Given the description of an element on the screen output the (x, y) to click on. 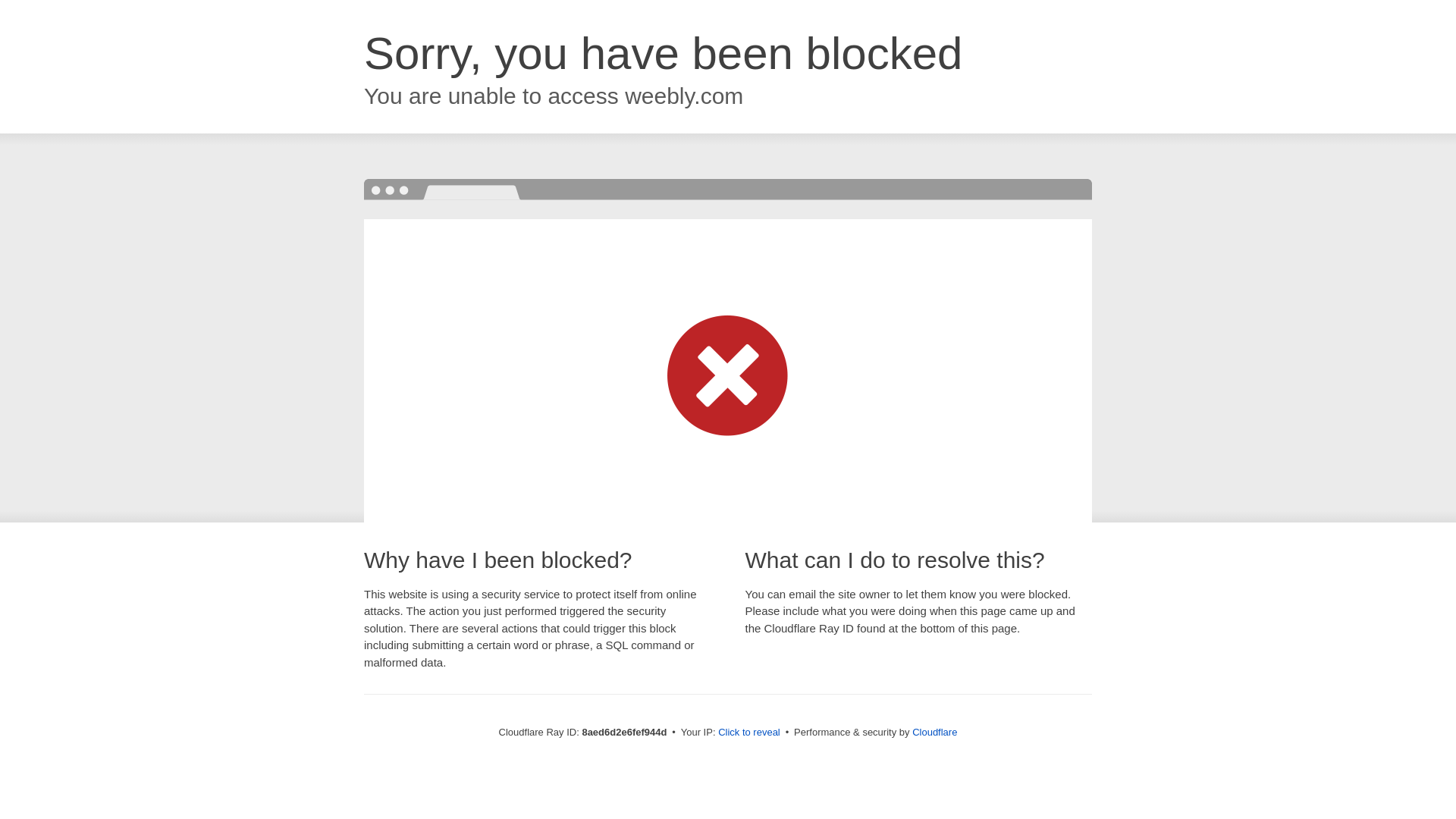
Click to reveal (748, 732)
Cloudflare (934, 731)
